Given the description of an element on the screen output the (x, y) to click on. 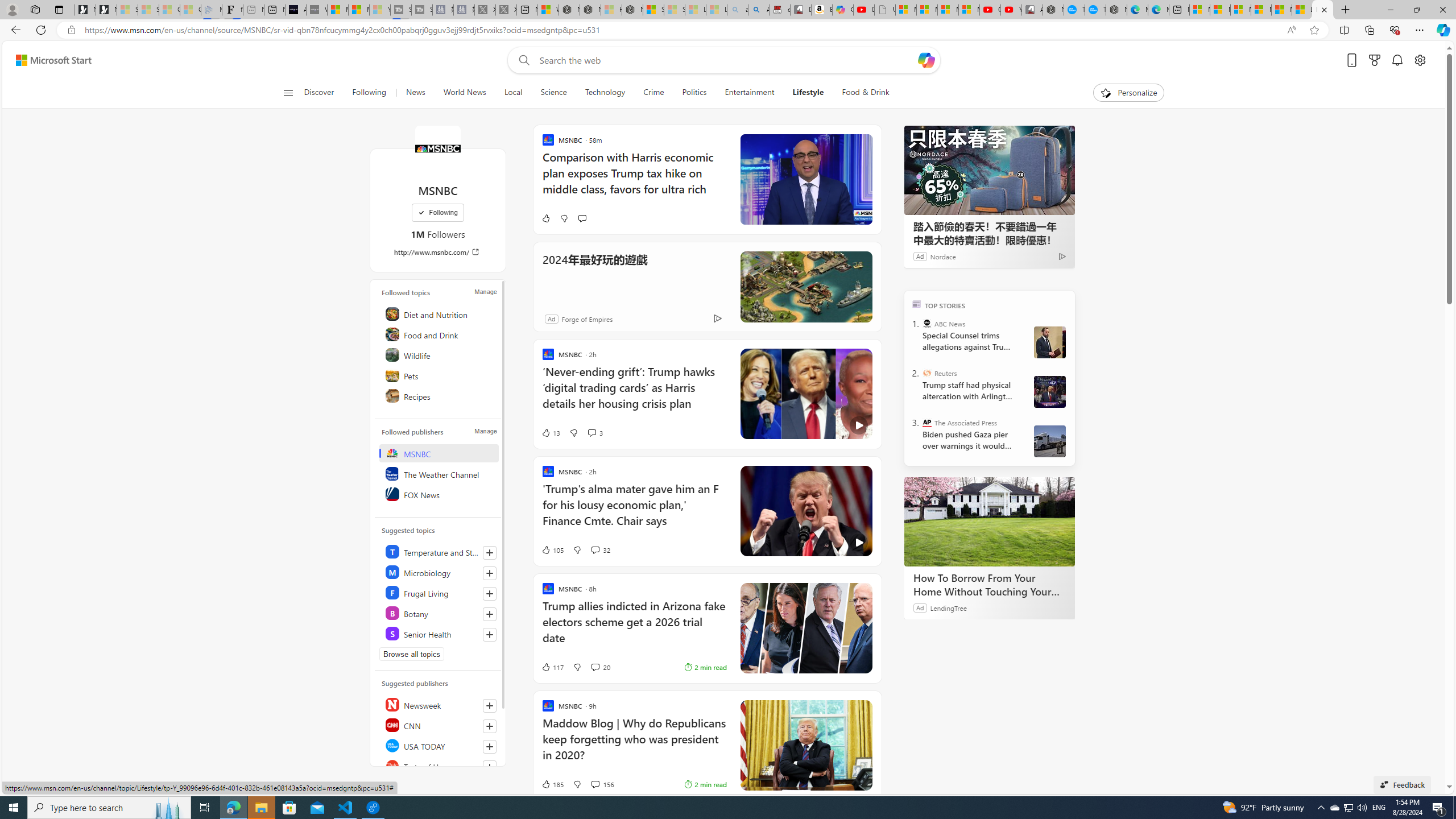
Food & Drink (860, 92)
View comments 156 Comment (601, 784)
MSNBC (439, 452)
Nordace - My Account (1053, 9)
The Associated Press (927, 422)
Local (513, 92)
Taste of Home (439, 765)
Pets (439, 375)
